Given the description of an element on the screen output the (x, y) to click on. 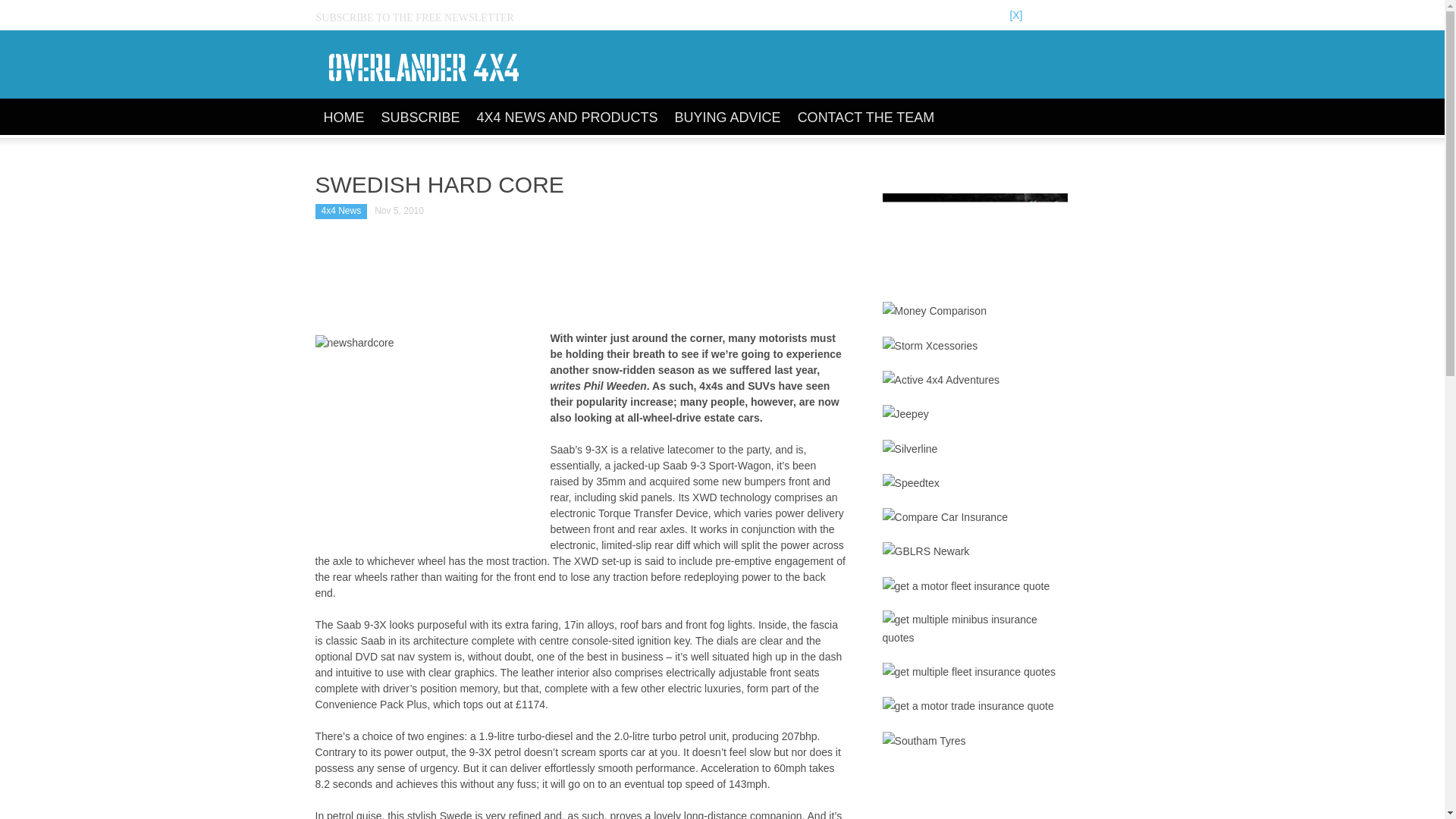
get multiple minibus insurance quotes (974, 628)
Compare Car Insurance (944, 516)
GBLRS Newark (925, 551)
4x4 News (341, 211)
Speedtex (910, 483)
Jeepey (905, 413)
get a motor fleet insurance quote (965, 586)
4X4 NEWS AND PRODUCTS (567, 118)
Storm Xcessories (930, 345)
SUBSCRIBE TO THE FREE NEWSLETTER (419, 17)
